Given the description of an element on the screen output the (x, y) to click on. 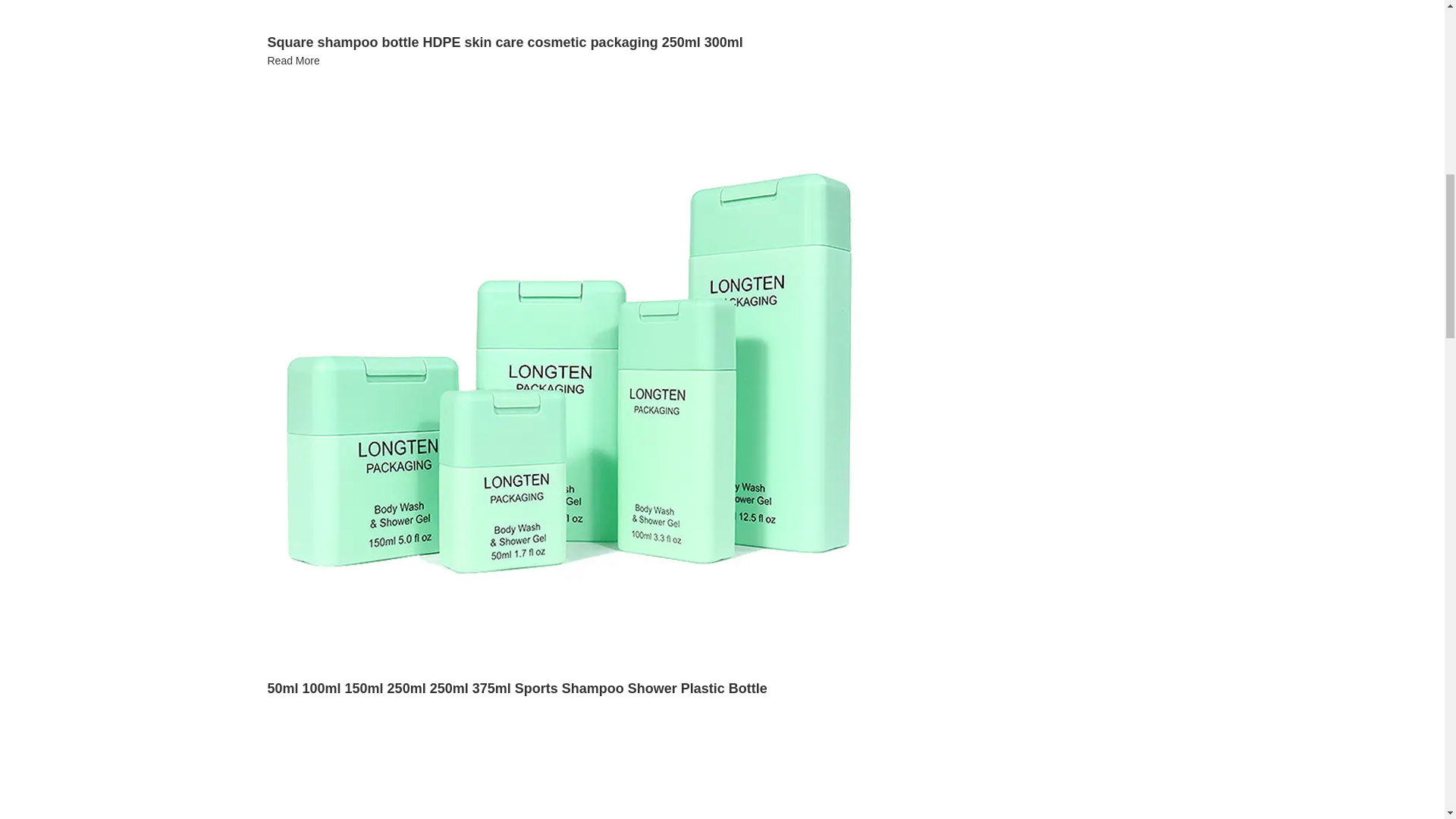
Read More (292, 60)
